Given the description of an element on the screen output the (x, y) to click on. 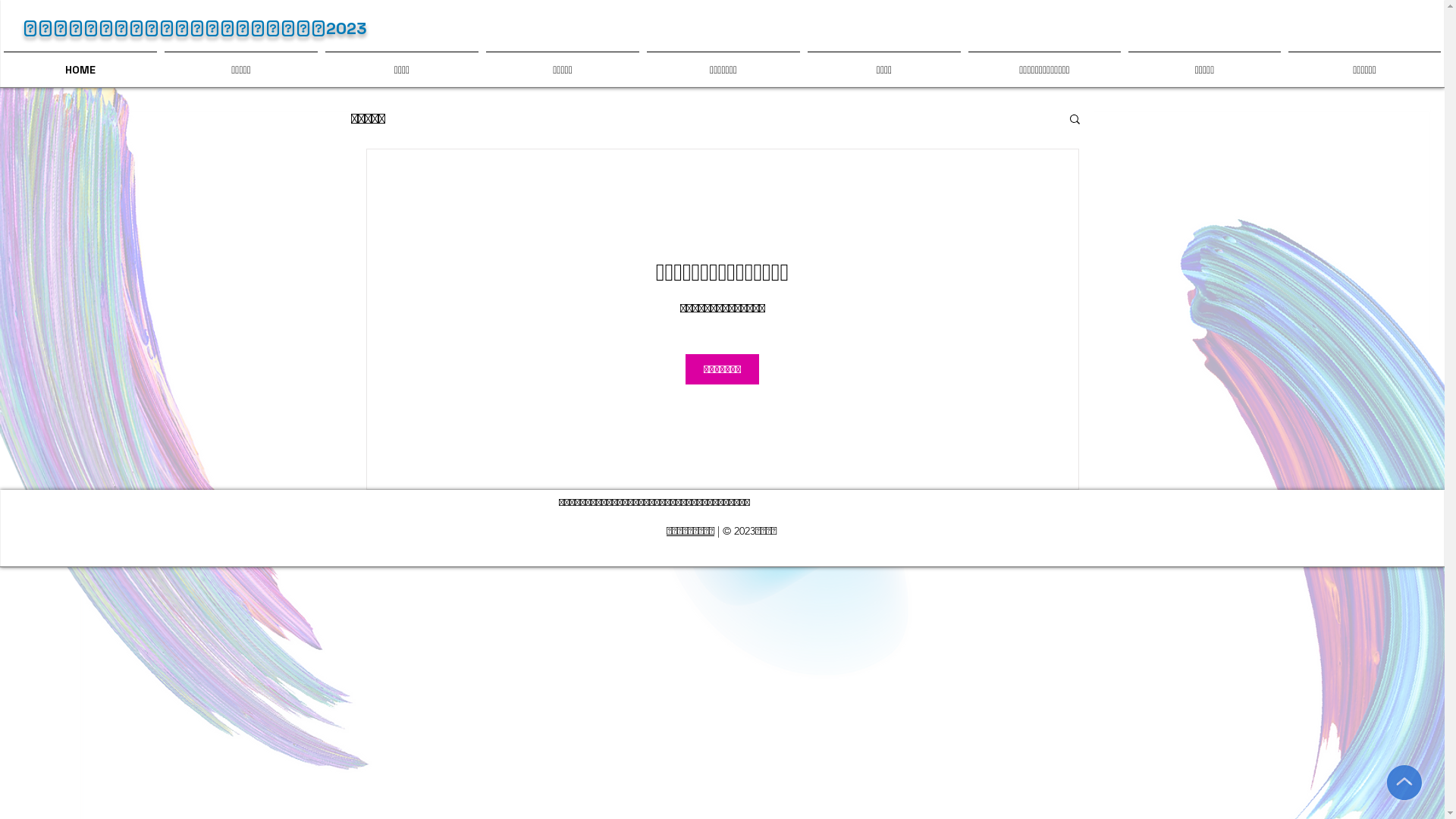
HOME Element type: text (80, 63)
